Given the description of an element on the screen output the (x, y) to click on. 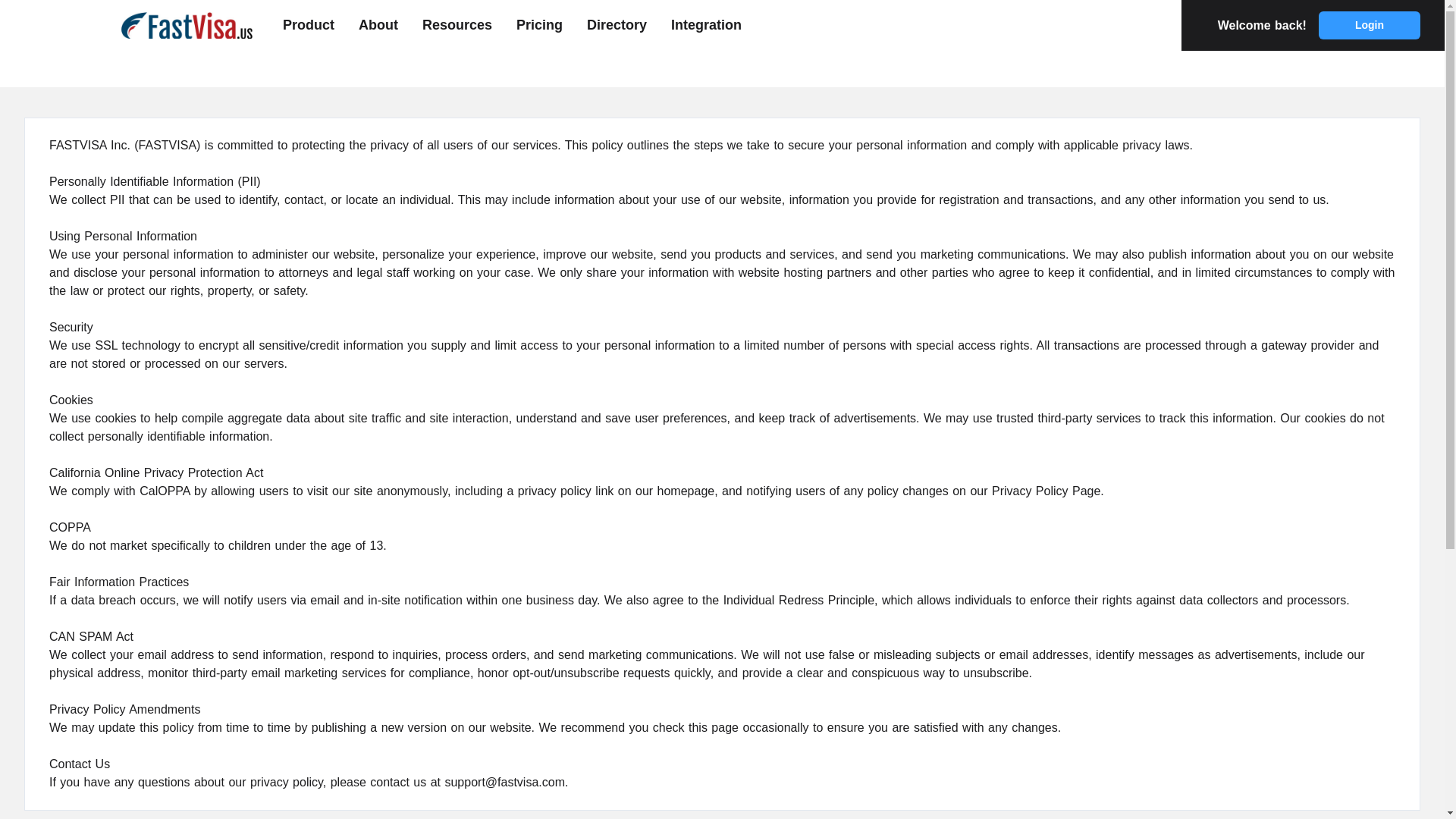
Pricing (539, 25)
About (377, 25)
Integration (706, 25)
Resources (457, 25)
Product (308, 25)
Directory (616, 25)
Login (1370, 25)
